Given the description of an element on the screen output the (x, y) to click on. 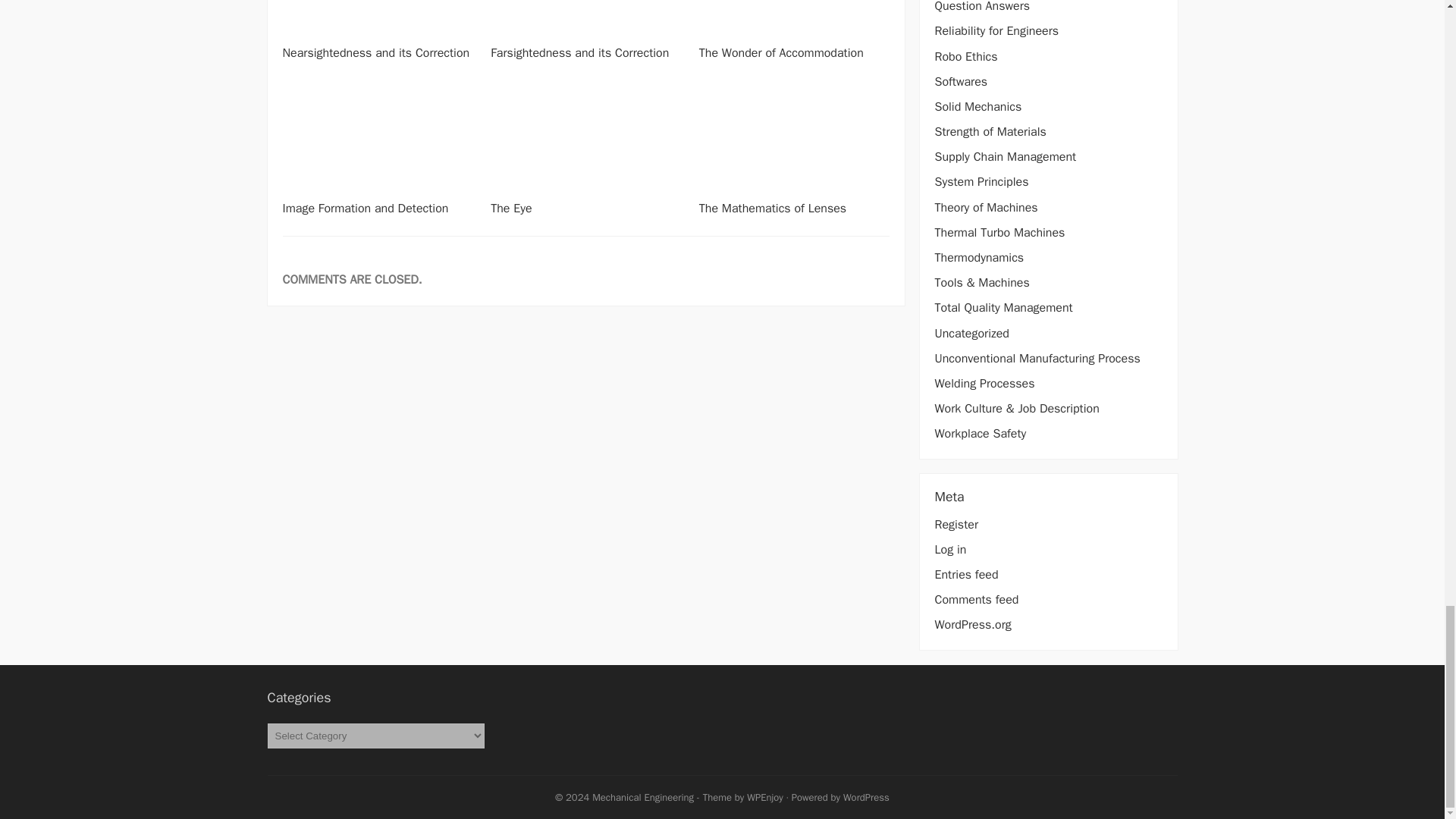
Farsightedness and its Correction (579, 52)
The Mathematics of Lenses (771, 208)
The Eye (510, 208)
Nearsightedness and its Correction (375, 52)
The Wonder of Accommodation (780, 52)
Image Formation and Detection (365, 208)
